Given the description of an element on the screen output the (x, y) to click on. 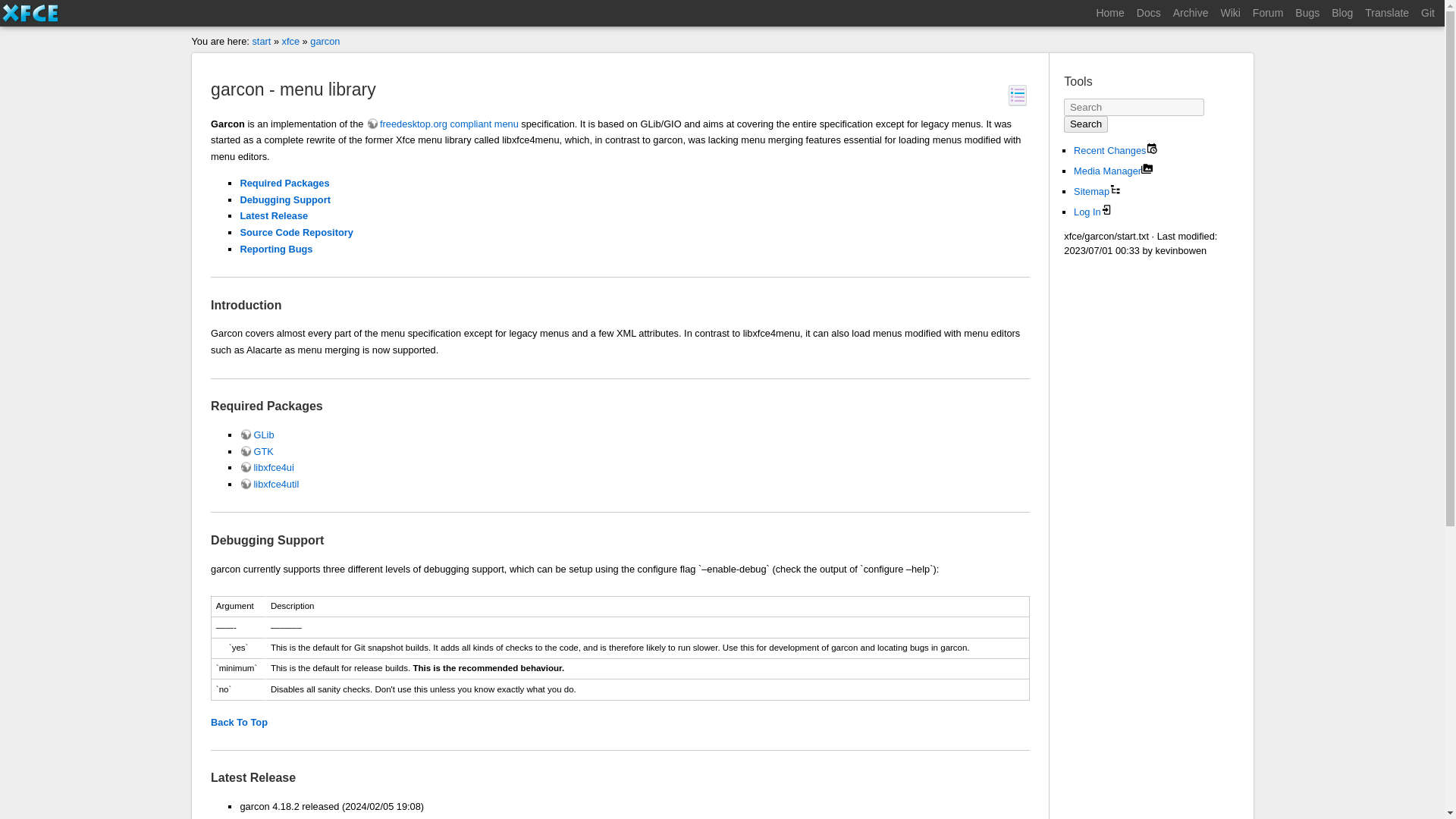
Help translating the Xfce project (1386, 13)
Blog (1341, 13)
Go to the homepage (1109, 13)
Bugs (1306, 13)
Translate (1386, 13)
xfce:garcon:start (324, 41)
Latest Release (273, 215)
garcon (324, 41)
Recent Changes (1156, 150)
Home (1109, 13)
libxfce4util (269, 483)
Report and track bugs (1306, 13)
freedesktop.org compliant menu (442, 123)
Archive (1190, 13)
Wiki (1230, 13)
